Given the description of an element on the screen output the (x, y) to click on. 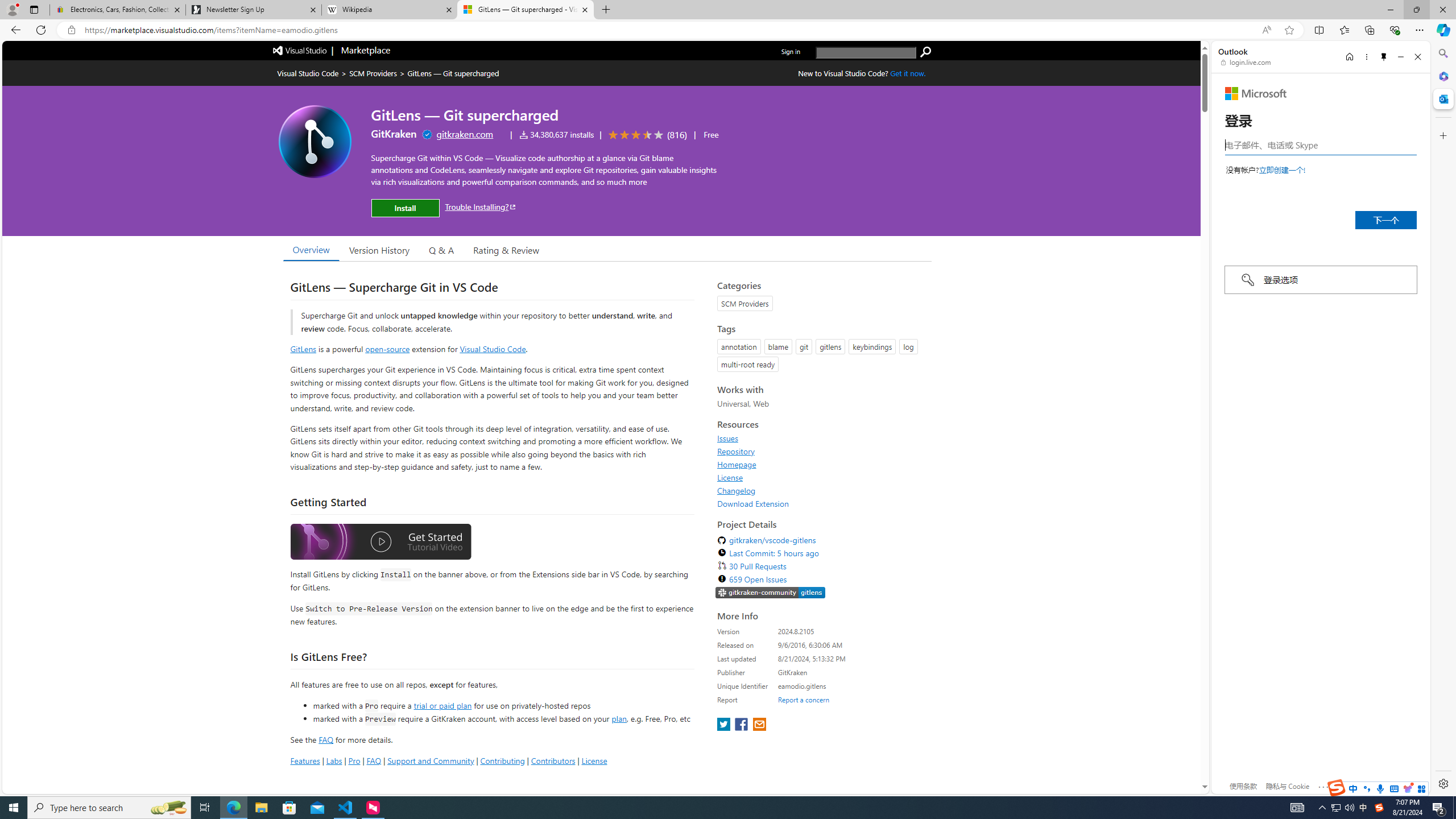
Customize (1442, 135)
Wikipedia (390, 9)
Rating & Review (505, 249)
Download Extension (753, 503)
Newsletter Sign Up (253, 9)
search (866, 52)
share extension on facebook (742, 725)
